Given the description of an element on the screen output the (x, y) to click on. 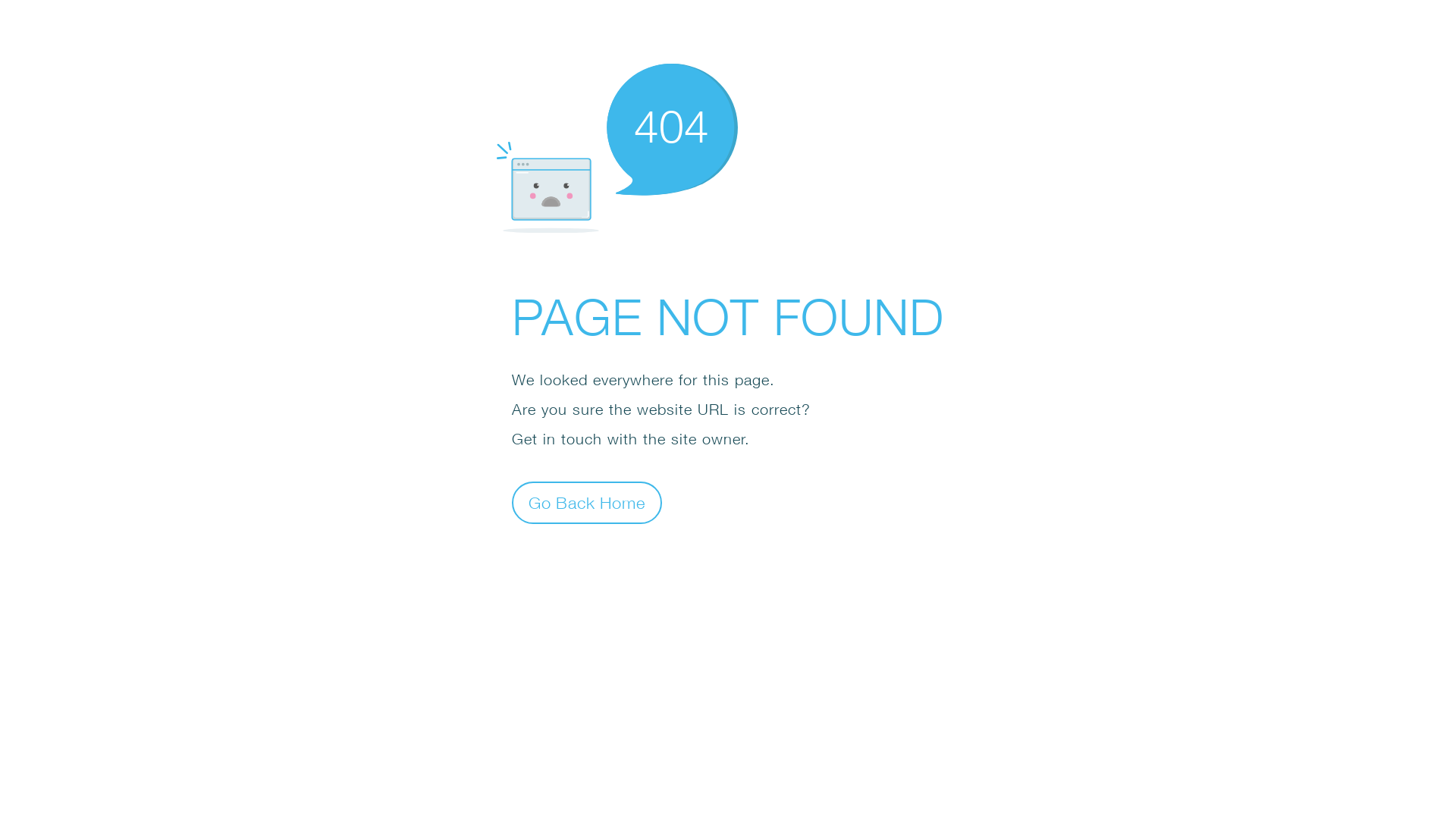
Go Back Home Element type: text (586, 502)
